Given the description of an element on the screen output the (x, y) to click on. 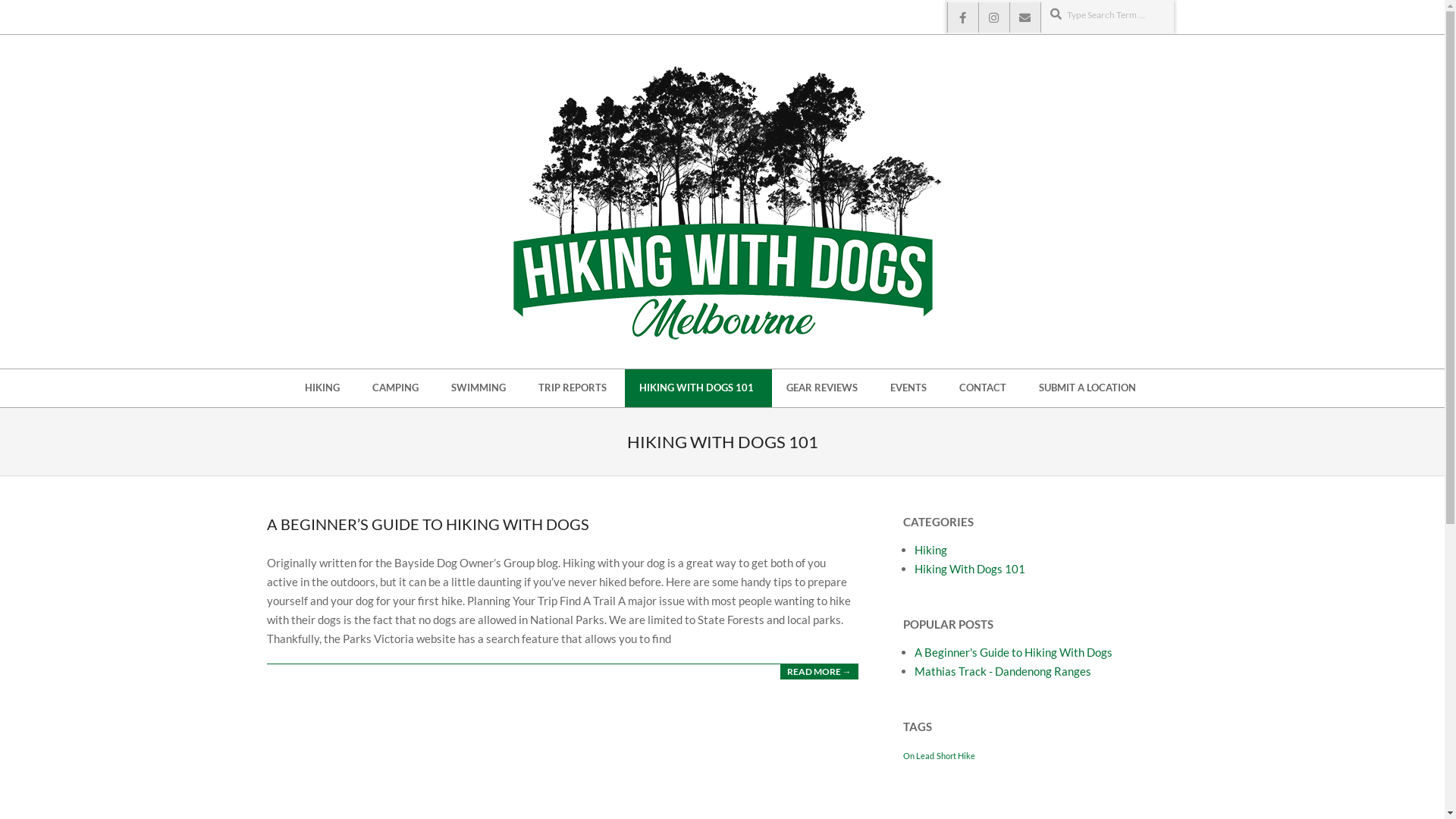
Hiking Element type: text (930, 549)
CONTACT Element type: text (984, 388)
Mathias Track - Dandenong Ranges Element type: text (1002, 670)
SWIMMING Element type: text (480, 388)
CAMPING Element type: text (396, 388)
Hiking With Dogs 101 Element type: text (969, 568)
On Lead Element type: text (917, 755)
SUBMIT A LOCATION Element type: text (1089, 388)
HIKING WITH DOGS 101 Element type: text (697, 388)
EVENTS Element type: text (909, 388)
TRIP REPORTS Element type: text (574, 388)
A Beginner's Guide to Hiking With Dogs Element type: text (1013, 651)
Short Hike Element type: text (954, 755)
HIKING Element type: text (323, 388)
GEAR REVIEWS Element type: text (823, 388)
